Given the description of an element on the screen output the (x, y) to click on. 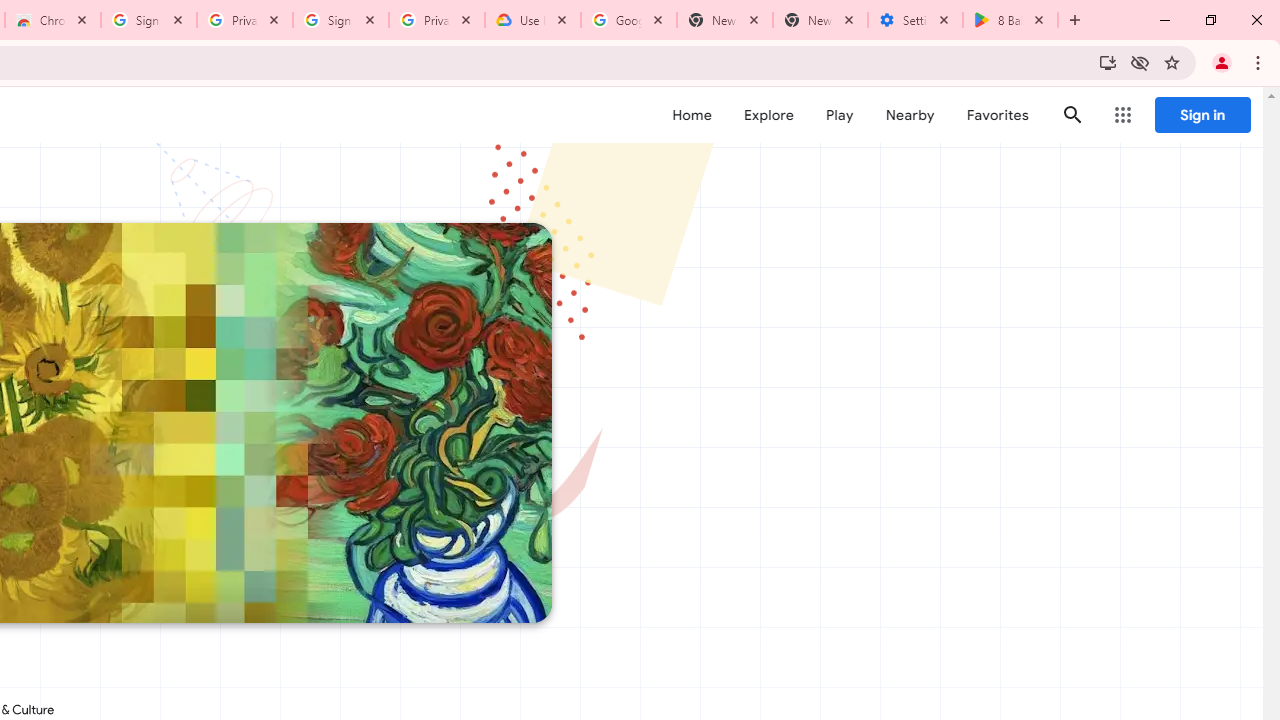
New Tab (820, 20)
Close Experiment (1222, 126)
Explore (768, 115)
Favorites (996, 115)
